Given the description of an element on the screen output the (x, y) to click on. 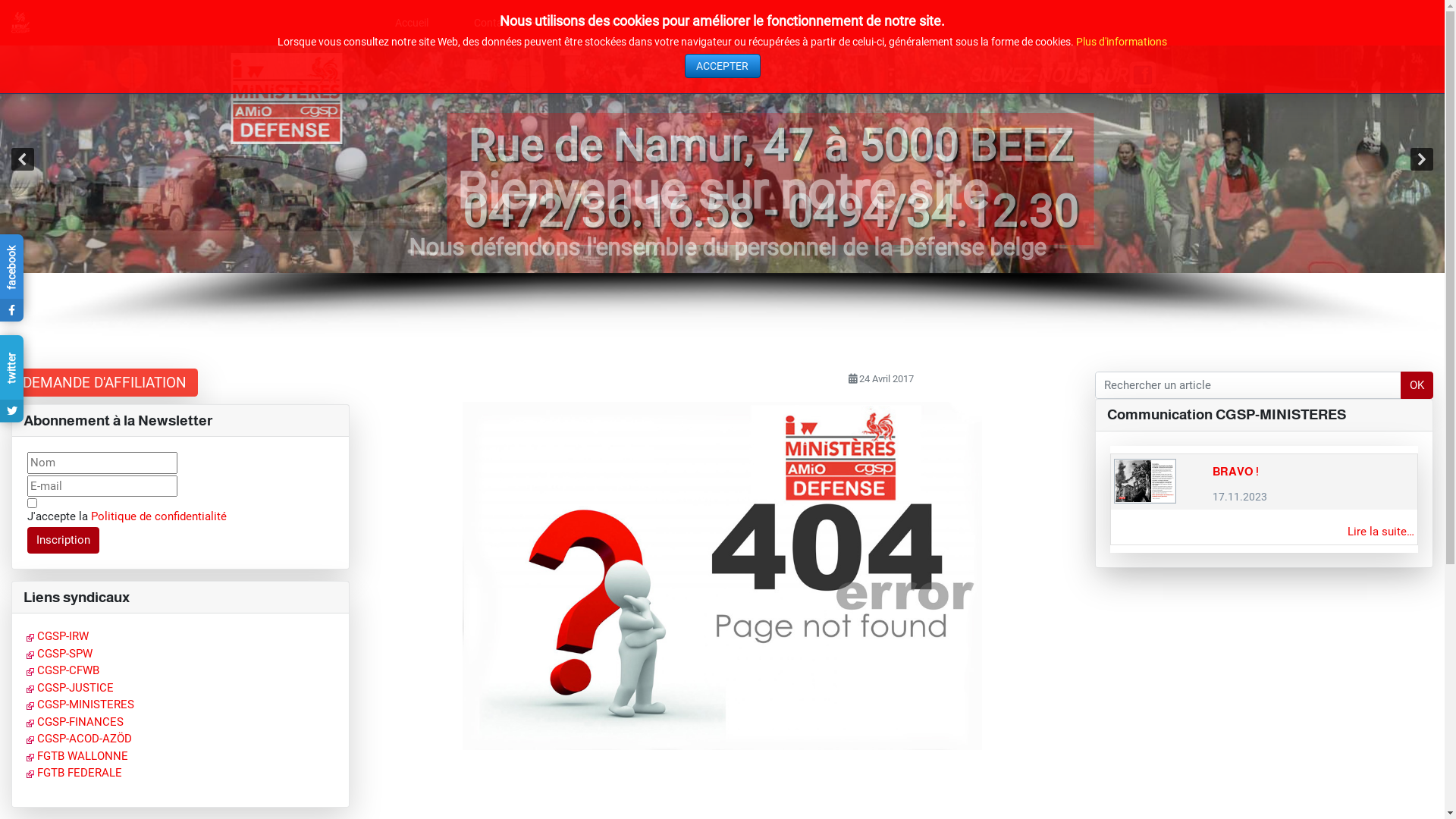
 CGSP-SPW Element type: text (59, 653)
Affiliation Element type: text (602, 22)
 CGSP-FINANCES Element type: text (74, 721)
Termes et conditions Element type: hover (32, 503)
OK Element type: text (1416, 384)
 CGSP-JUSTICE Element type: text (69, 687)
 FGTB FEDERALE Element type: text (74, 772)
Plus d'informations Element type: text (1121, 41)
 CGSP-IRW Element type: text (57, 636)
Login Element type: text (799, 22)
Contact Element type: text (500, 22)
SUIVEZ-NOUS SUR Element type: text (1046, 75)
Archives Element type: text (705, 22)
 CGSP-CFWB Element type: text (62, 670)
DEMANDE D'AFFILIATION Element type: text (104, 382)
 CGSP-MINISTERES Element type: text (80, 704)
 FGTB WALLONNE Element type: text (77, 755)
Accueil Element type: text (411, 22)
Inscription Element type: text (63, 540)
BRAVO ! Element type: text (1235, 471)
